Given the description of an element on the screen output the (x, y) to click on. 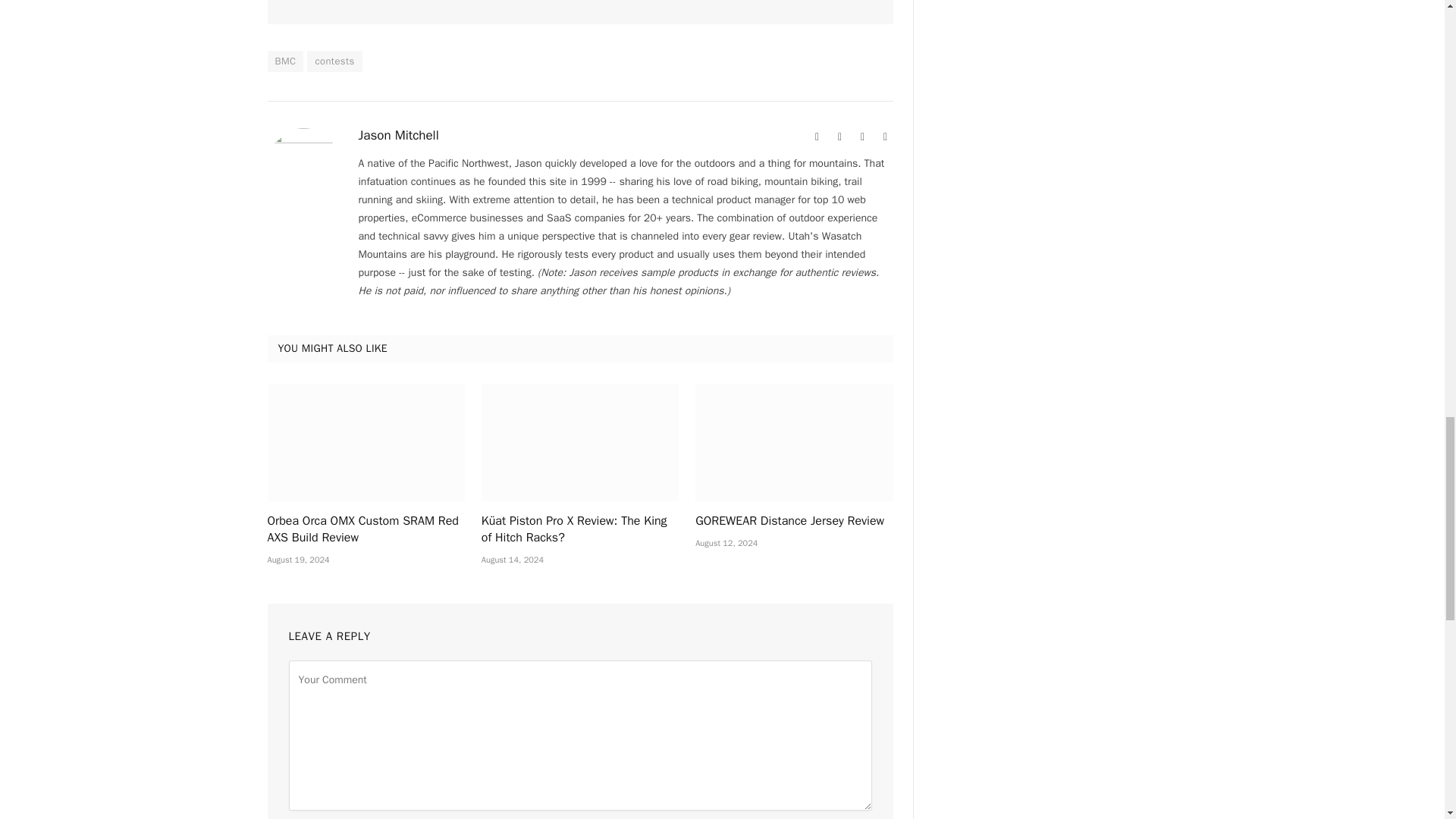
Instagram (863, 136)
Website (817, 136)
Jason Mitchell (398, 135)
contests (334, 61)
Instagram (863, 136)
Orbea Orca OMX Custom SRAM Red AXS Build Review (365, 442)
LinkedIn (885, 136)
BMC (284, 61)
Website (817, 136)
LinkedIn (885, 136)
